Given the description of an element on the screen output the (x, y) to click on. 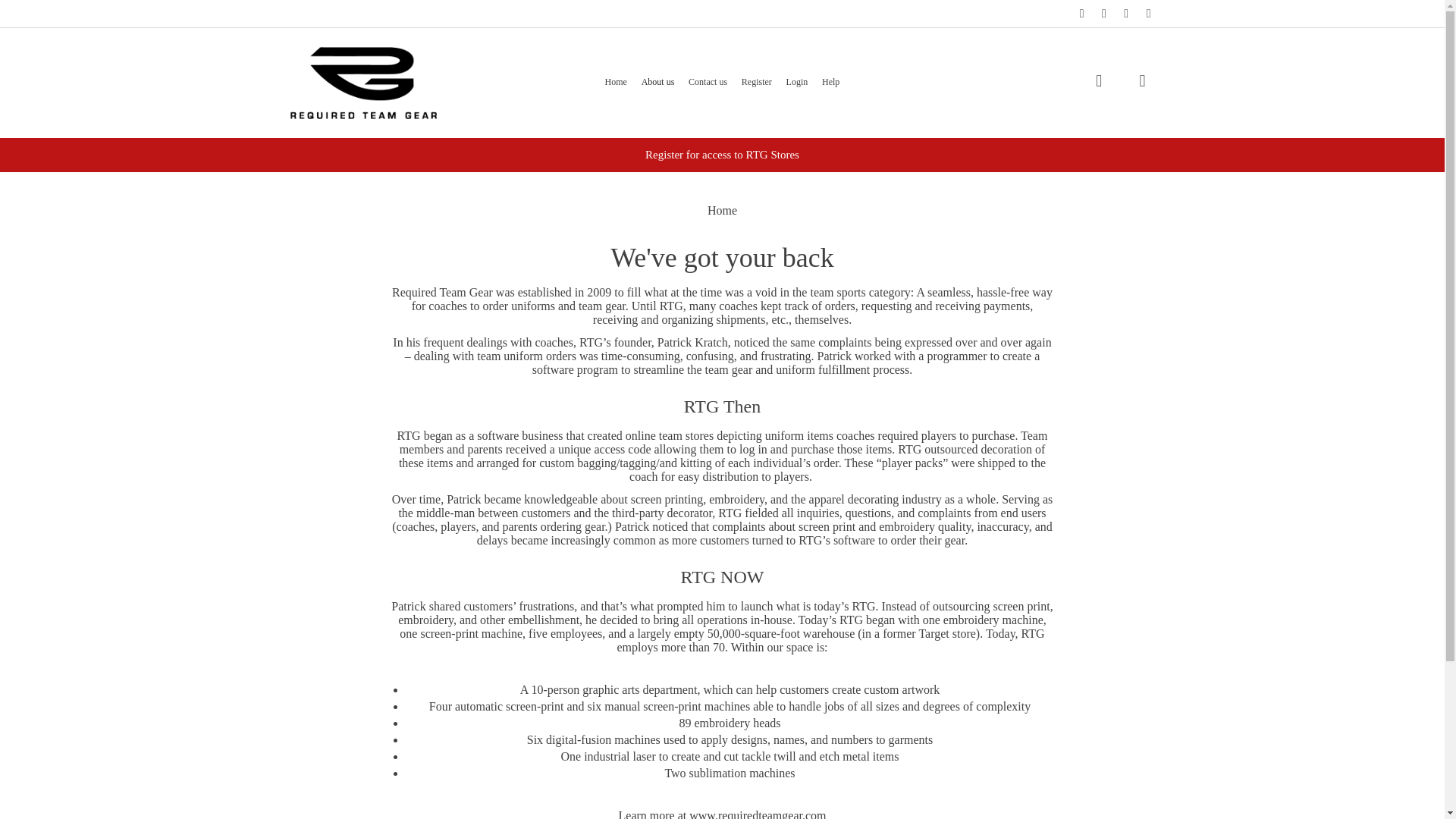
Help (831, 81)
About us (658, 81)
Contact us (707, 81)
Required Team Gear logo (362, 82)
Login (797, 81)
Home (616, 81)
Register (756, 81)
Required Team Gear logo (362, 81)
